Given the description of an element on the screen output the (x, y) to click on. 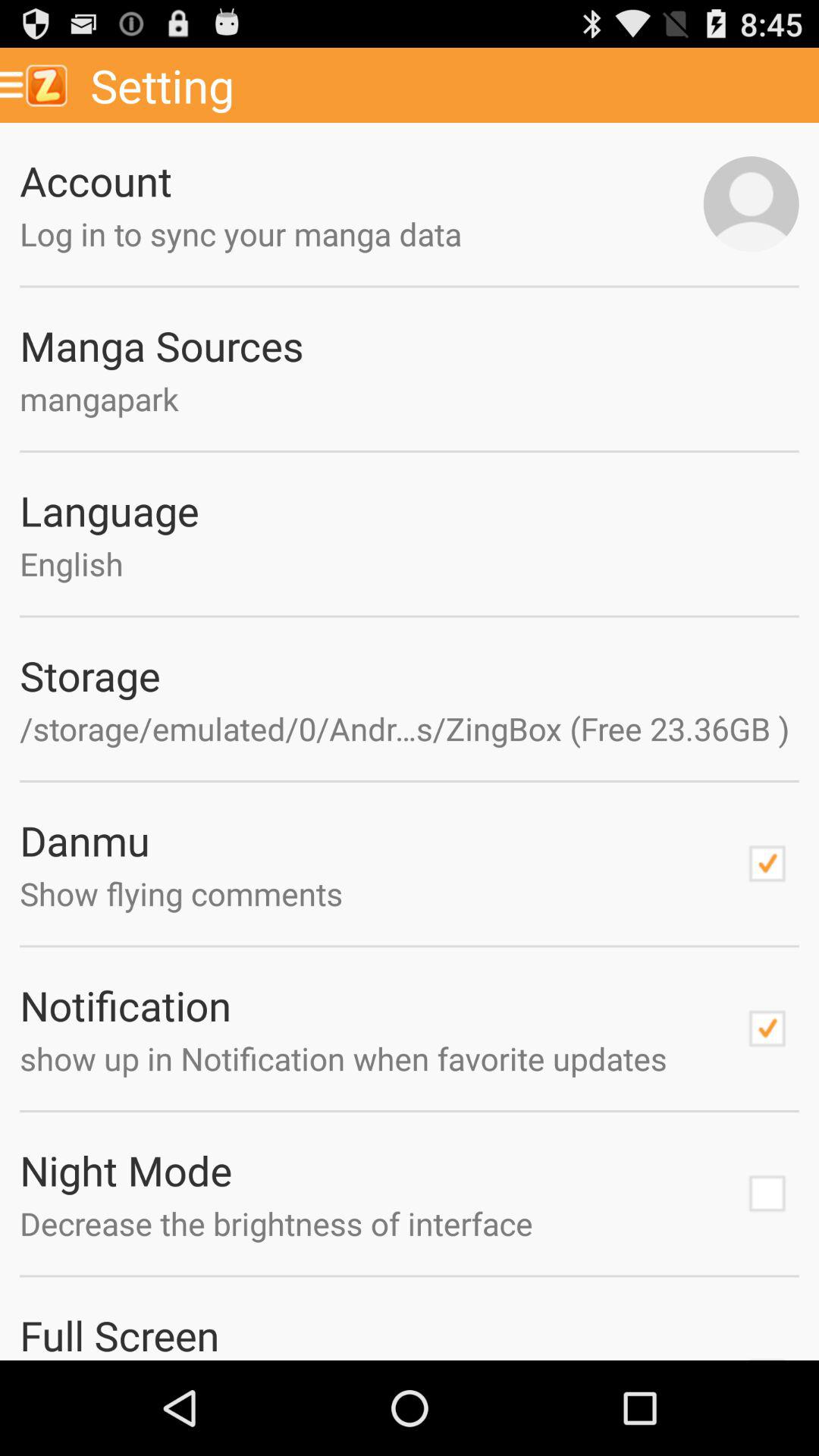
switch show flying comments option (767, 863)
